Given the description of an element on the screen output the (x, y) to click on. 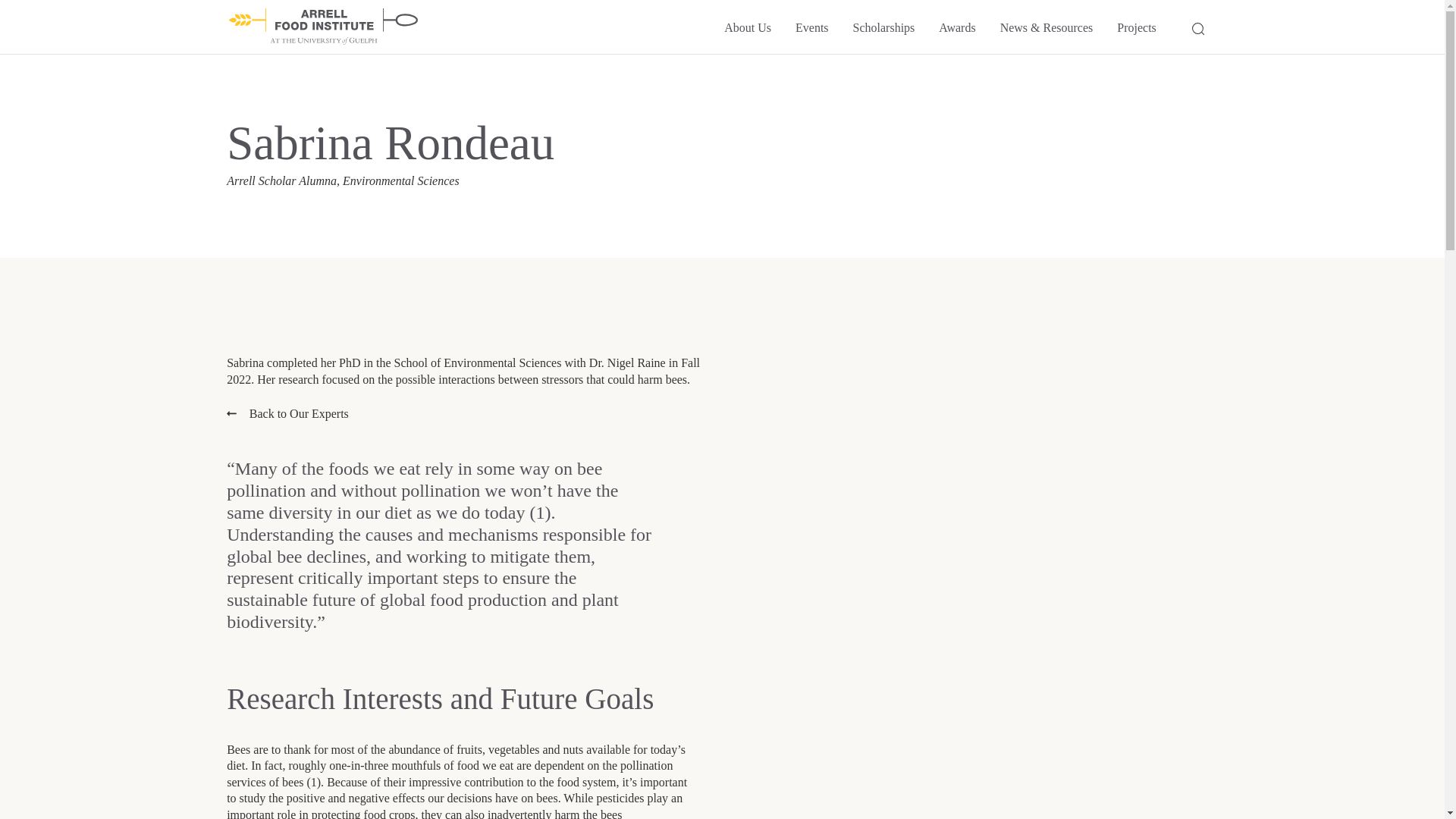
About Us (747, 27)
Awards (957, 27)
Events (811, 27)
Scholarships (884, 27)
Projects (1136, 27)
